Given the description of an element on the screen output the (x, y) to click on. 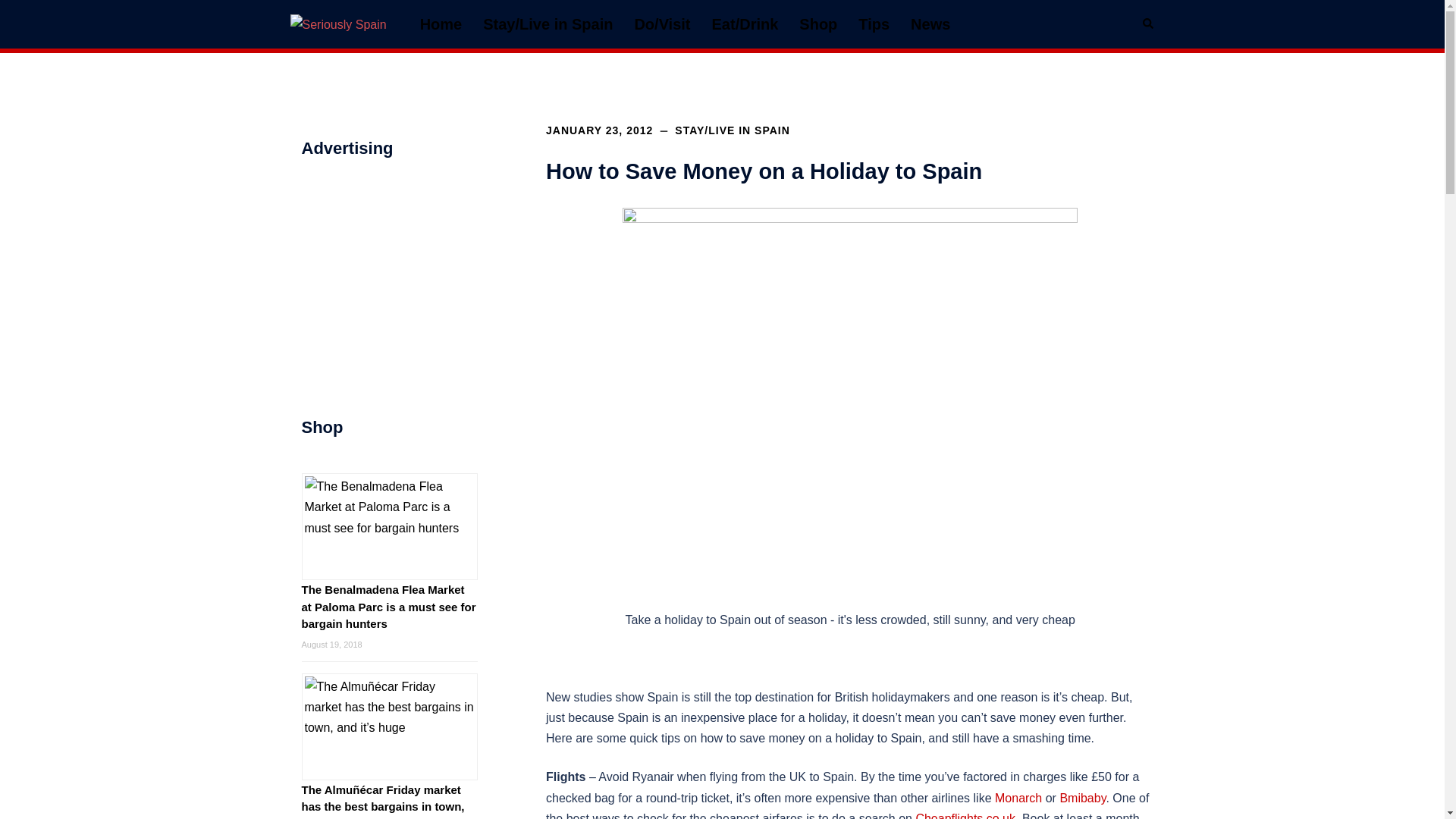
News (930, 23)
JANUARY 23, 2012 (599, 130)
Search (1147, 24)
Bmibaby (1082, 797)
Shop (818, 23)
Cheapflights.co.uk (964, 815)
Home (441, 23)
Seriously Spain (337, 23)
Tips (874, 23)
